Given the description of an element on the screen output the (x, y) to click on. 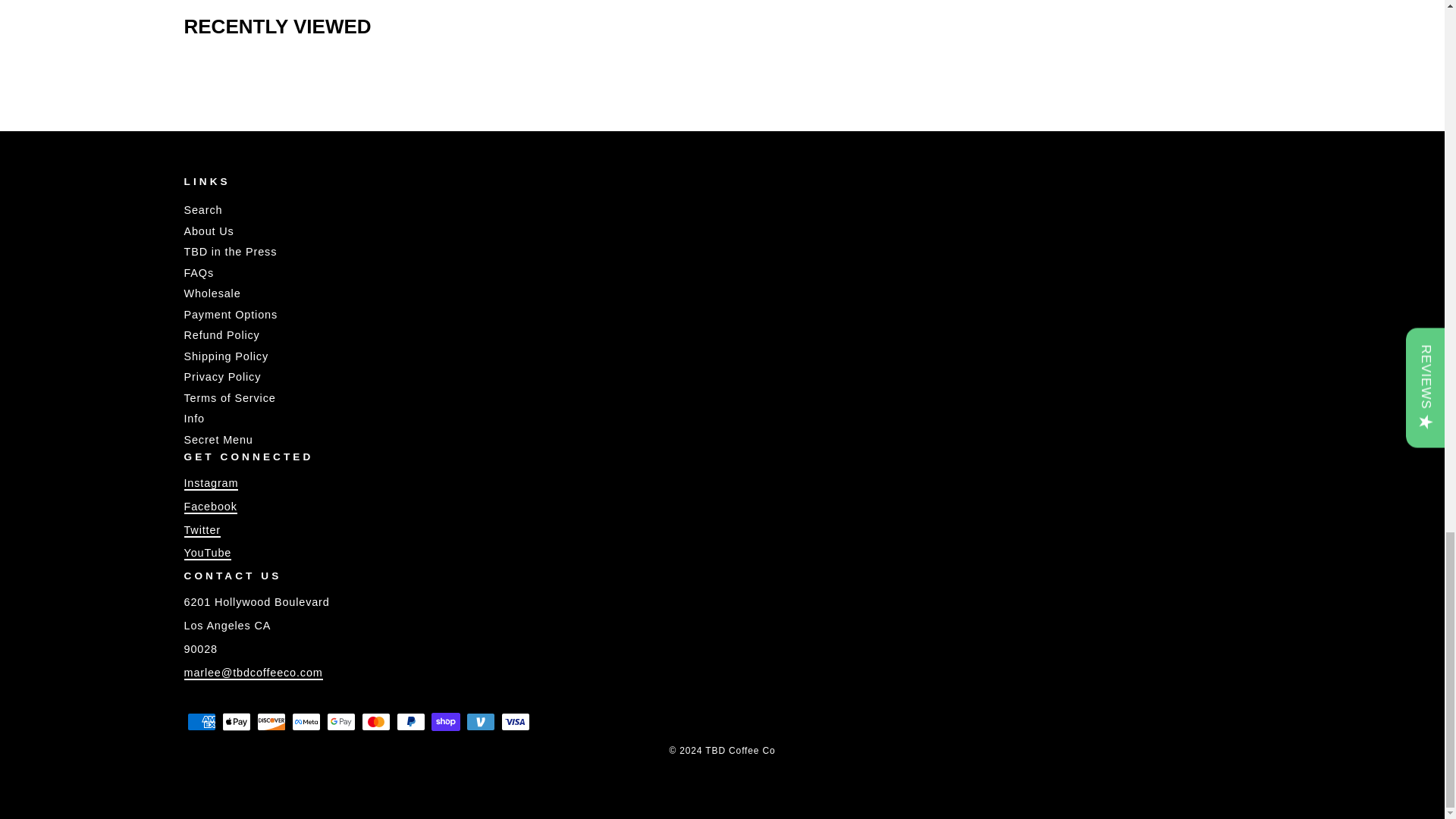
Apple Pay (235, 721)
Mastercard (375, 721)
tbd coffee co youtube (207, 553)
American Express (200, 721)
Shop Pay (445, 721)
PayPal (410, 721)
tbd coffee co twitter (201, 530)
Google Pay (340, 721)
Discover (270, 721)
tbd coffee co facebook (209, 507)
